Given the description of an element on the screen output the (x, y) to click on. 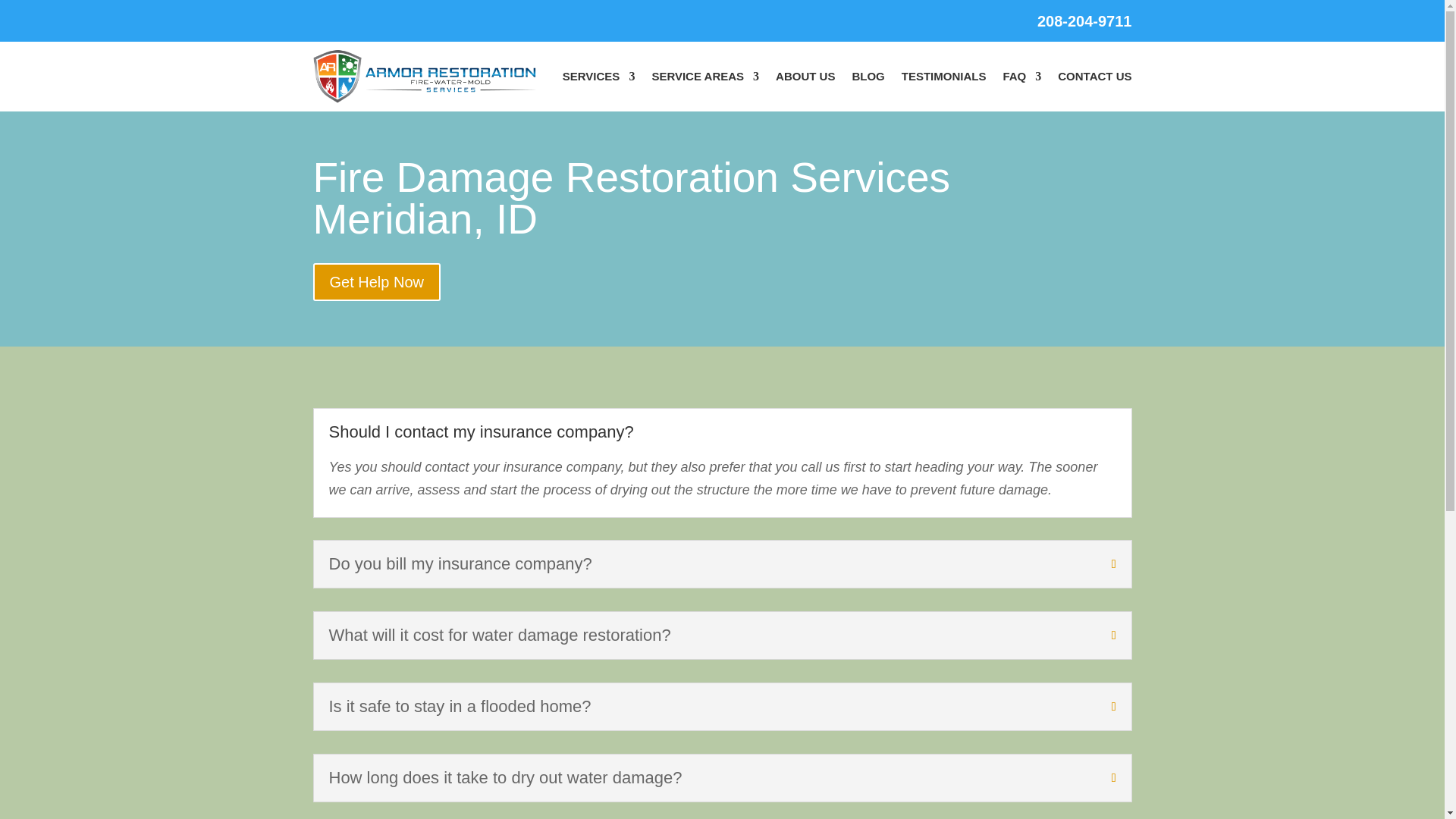
CONTACT US (1094, 76)
Get Help Now (377, 281)
FAQ (1022, 76)
SERVICE AREAS (704, 76)
BLOG (867, 76)
SERVICES (598, 76)
ABOUT US (805, 76)
208-204-9711 (1084, 21)
TESTIMONIALS (944, 76)
